Given the description of an element on the screen output the (x, y) to click on. 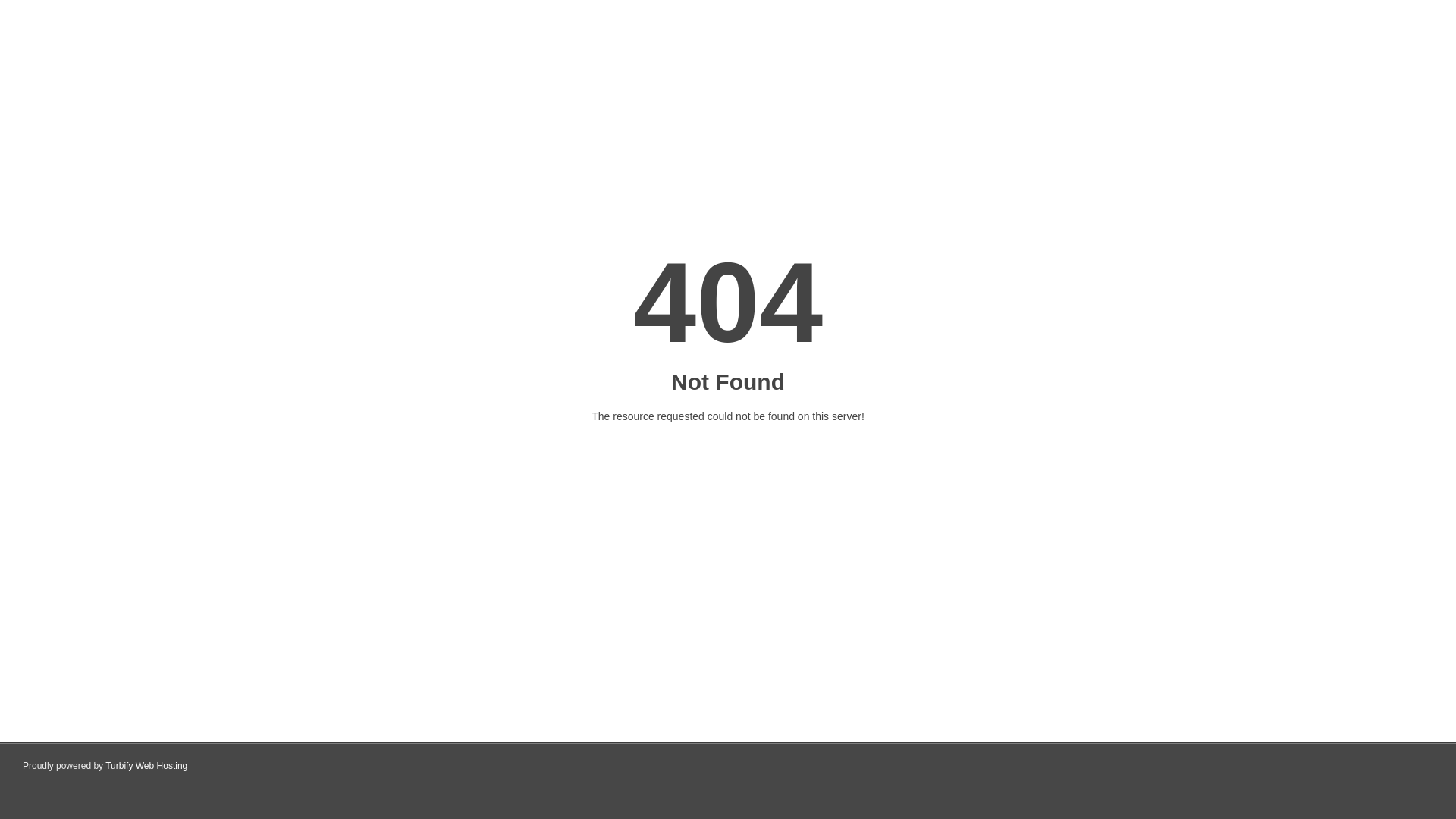
Turbify Web Hosting Element type: text (146, 765)
